Given the description of an element on the screen output the (x, y) to click on. 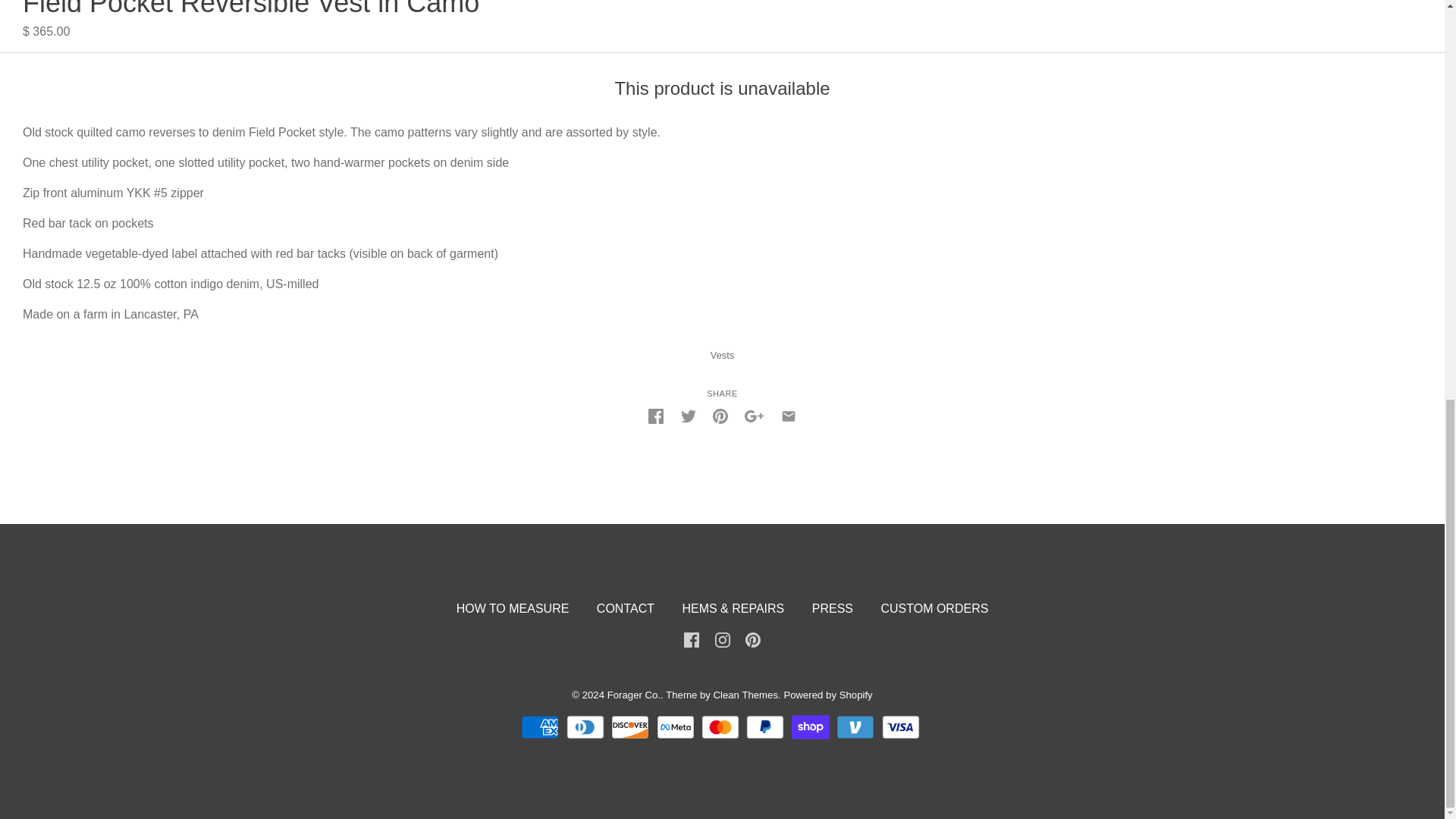
HOW TO MEASURE (513, 608)
Meta Pay (675, 726)
GooglePlus (753, 414)
Instagram (721, 638)
Vests (721, 355)
Venmo (855, 726)
PRESS (832, 608)
Email (788, 416)
Pinterest (720, 416)
GooglePlus (753, 416)
